Given the description of an element on the screen output the (x, y) to click on. 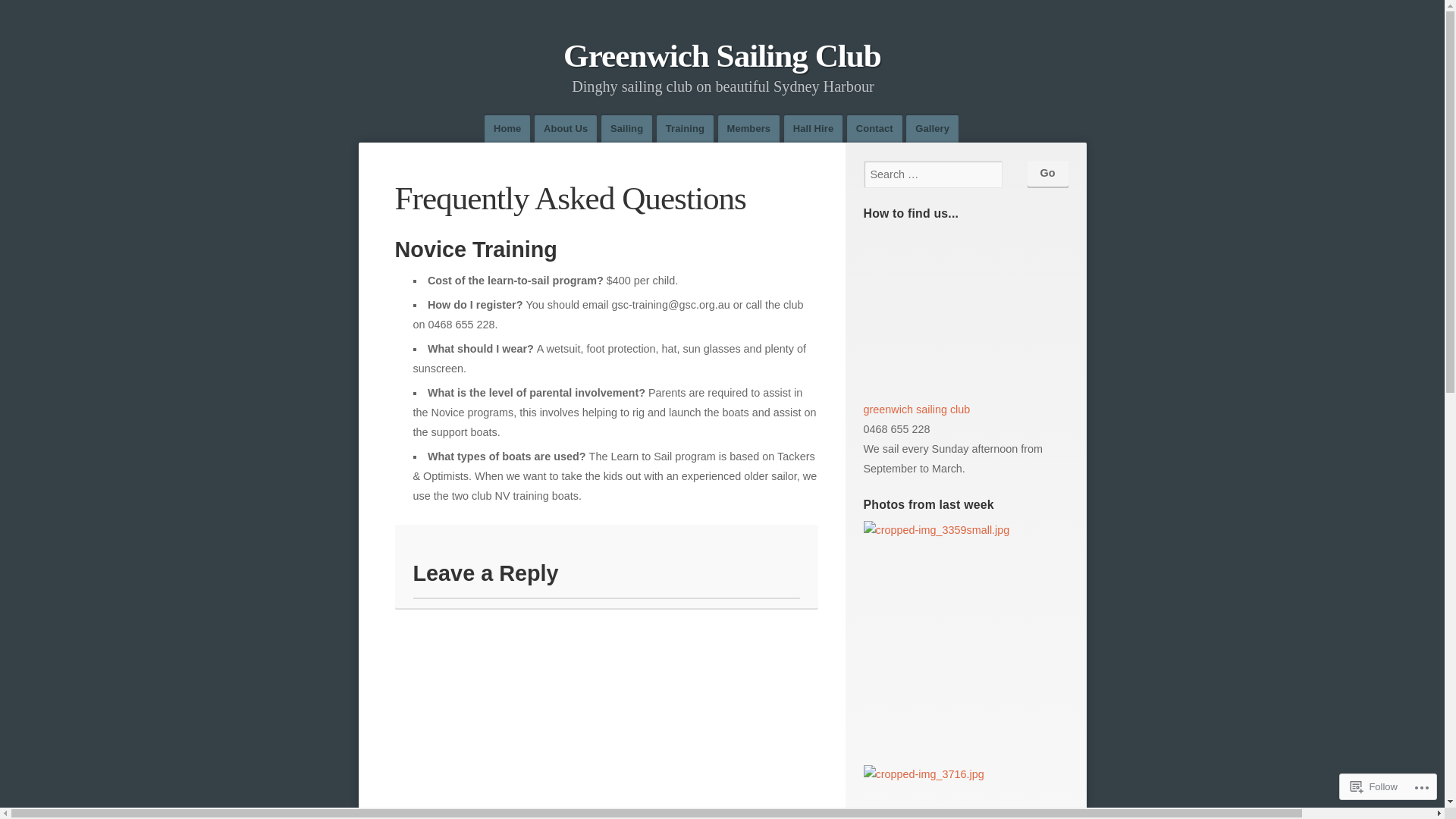
About Us Element type: text (565, 128)
Google Map Embed Element type: hover (964, 311)
Home Element type: text (507, 128)
Go Element type: text (1046, 172)
Follow Element type: text (1373, 786)
Contact Element type: text (874, 128)
Gallery Element type: text (932, 128)
Hall Hire Element type: text (813, 128)
cropped-img_3716.jpg Element type: hover (922, 774)
Sailing Element type: text (626, 128)
Members Element type: text (749, 128)
Training Element type: text (684, 128)
greenwich sailing club Element type: text (915, 409)
Greenwich Sailing Club Element type: text (722, 55)
cropped-img_3359small.jpg Element type: hover (935, 530)
